Given the description of an element on the screen output the (x, y) to click on. 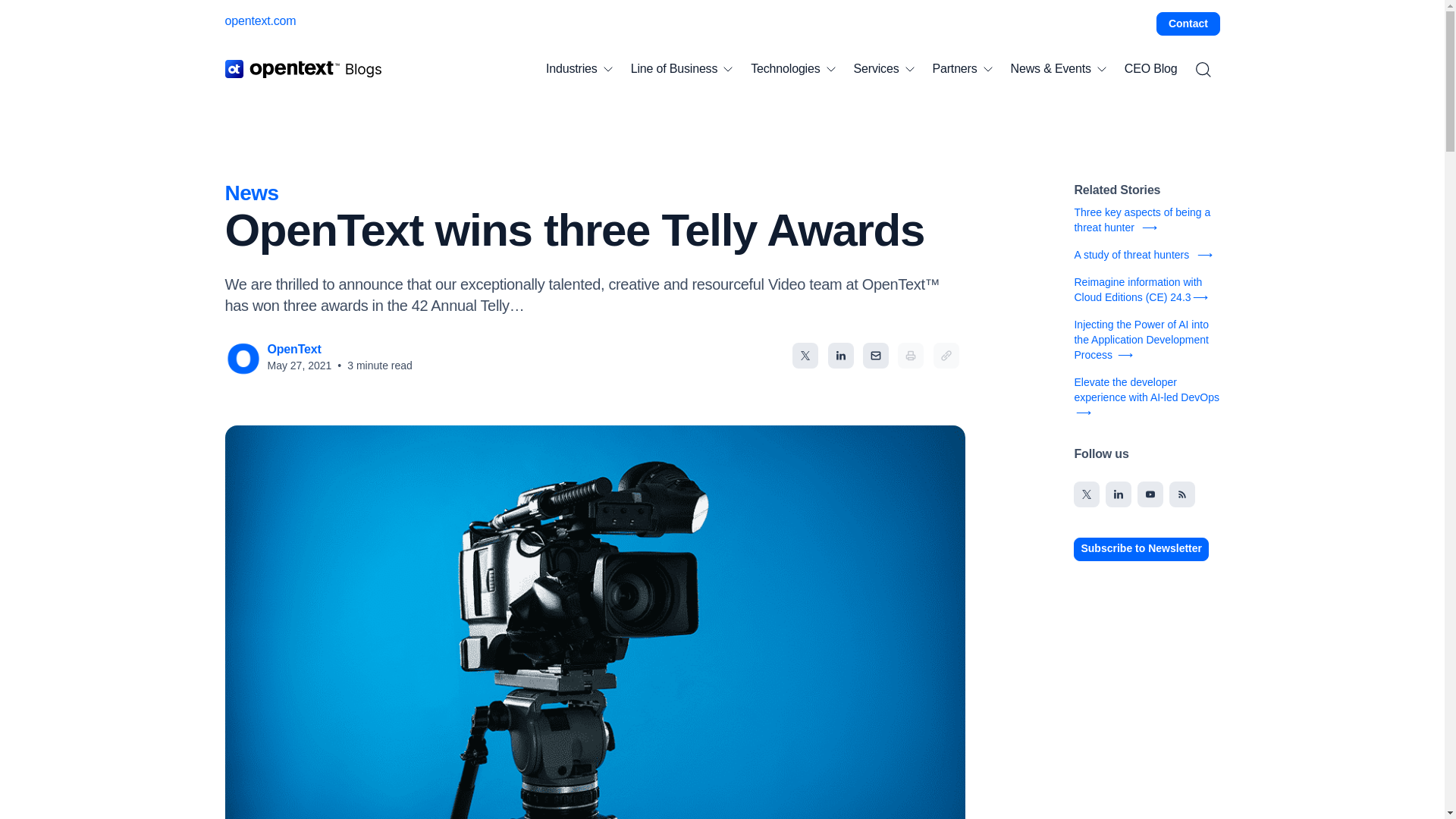
Industries (579, 69)
Contact (1188, 24)
opentext.com (259, 20)
Line of Business (681, 69)
Opentext blogs home page (302, 68)
Technologies (792, 69)
